Given the description of an element on the screen output the (x, y) to click on. 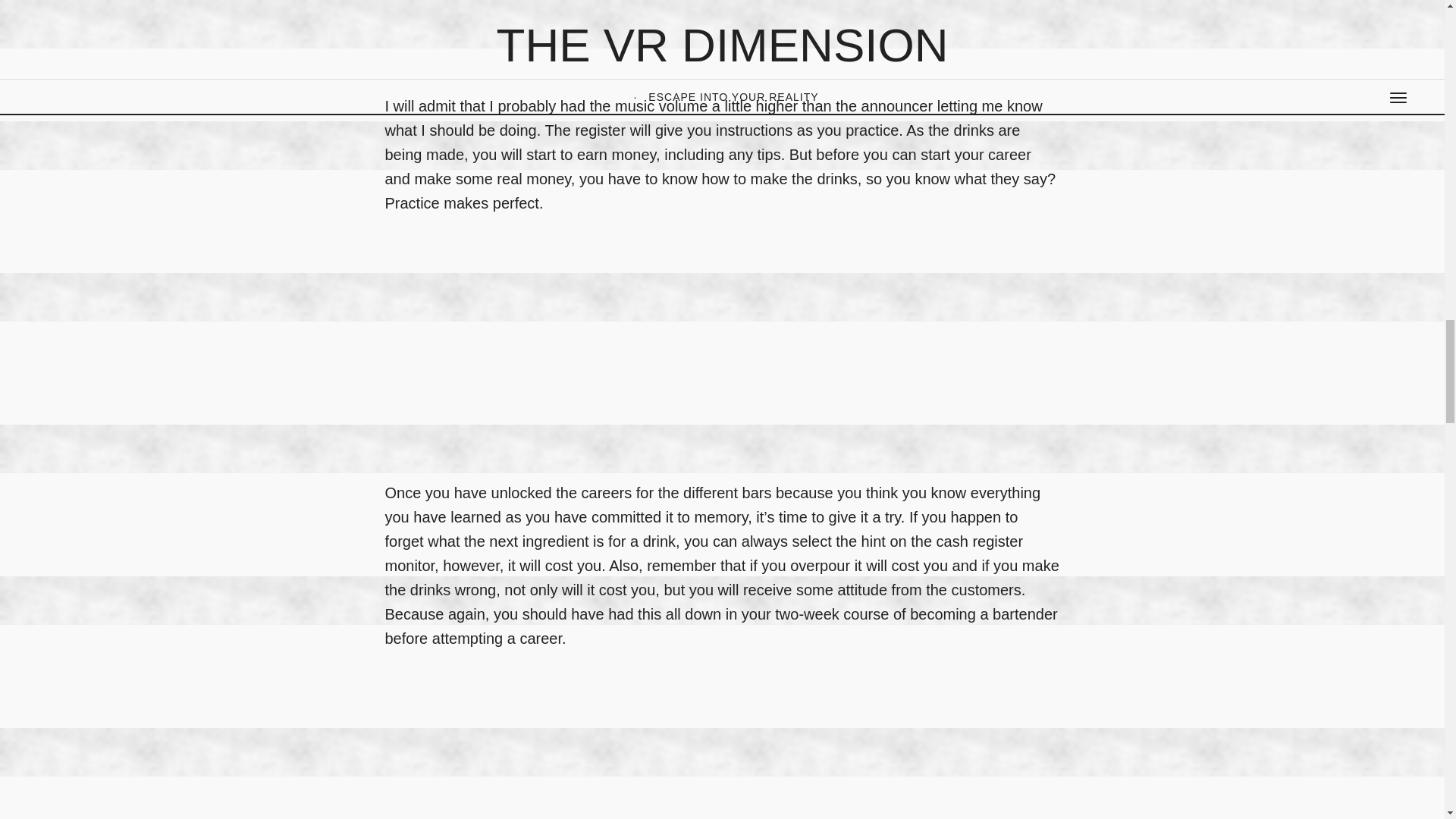
Bartender VR Simulator - PlayStation VR2 (574, 344)
Bartender VR Simulator (574, 746)
Bartender VR Simulator - PlayStation VR2 (574, 32)
